Given the description of an element on the screen output the (x, y) to click on. 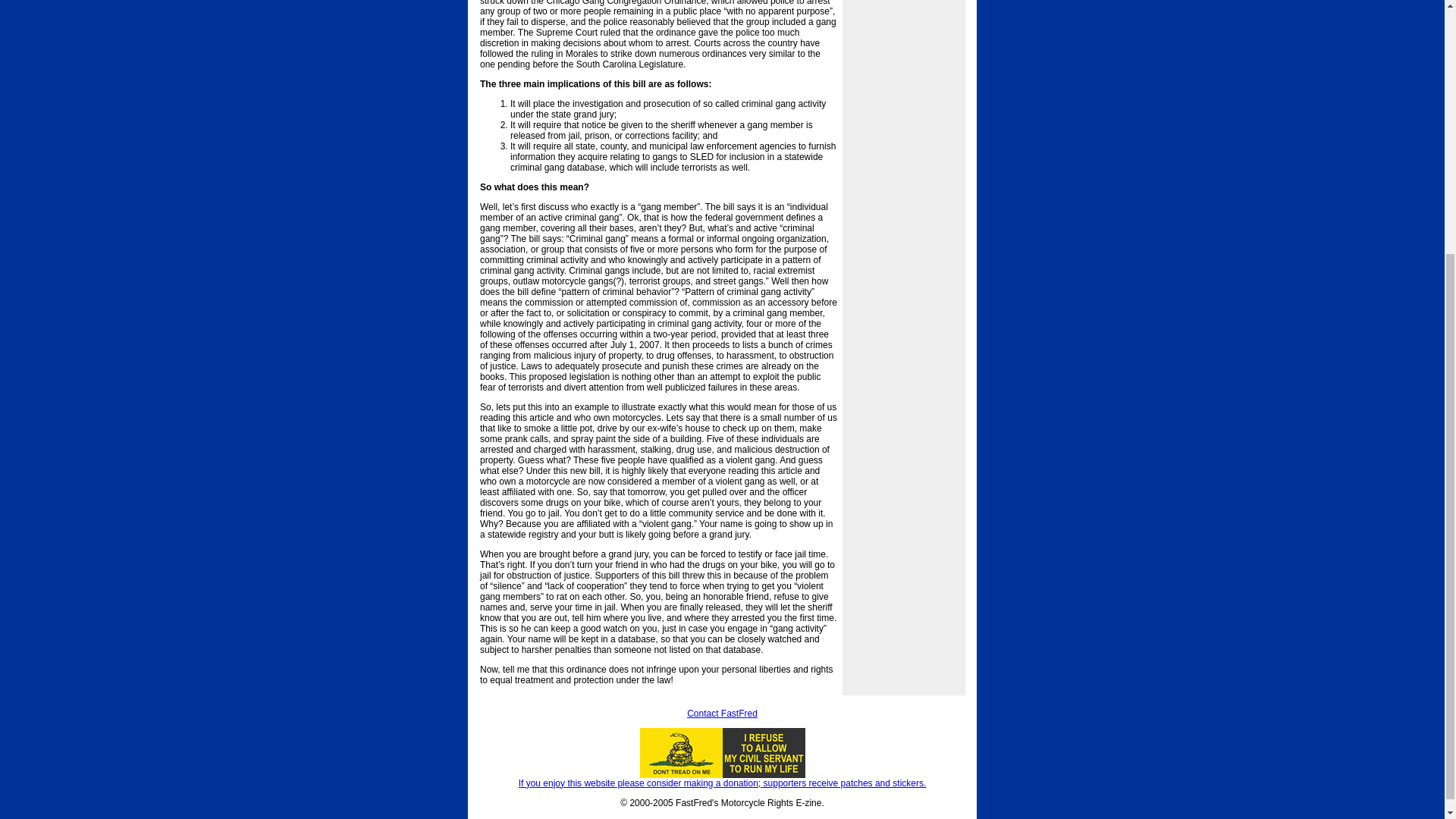
Contact FastFred (722, 713)
